Given the description of an element on the screen output the (x, y) to click on. 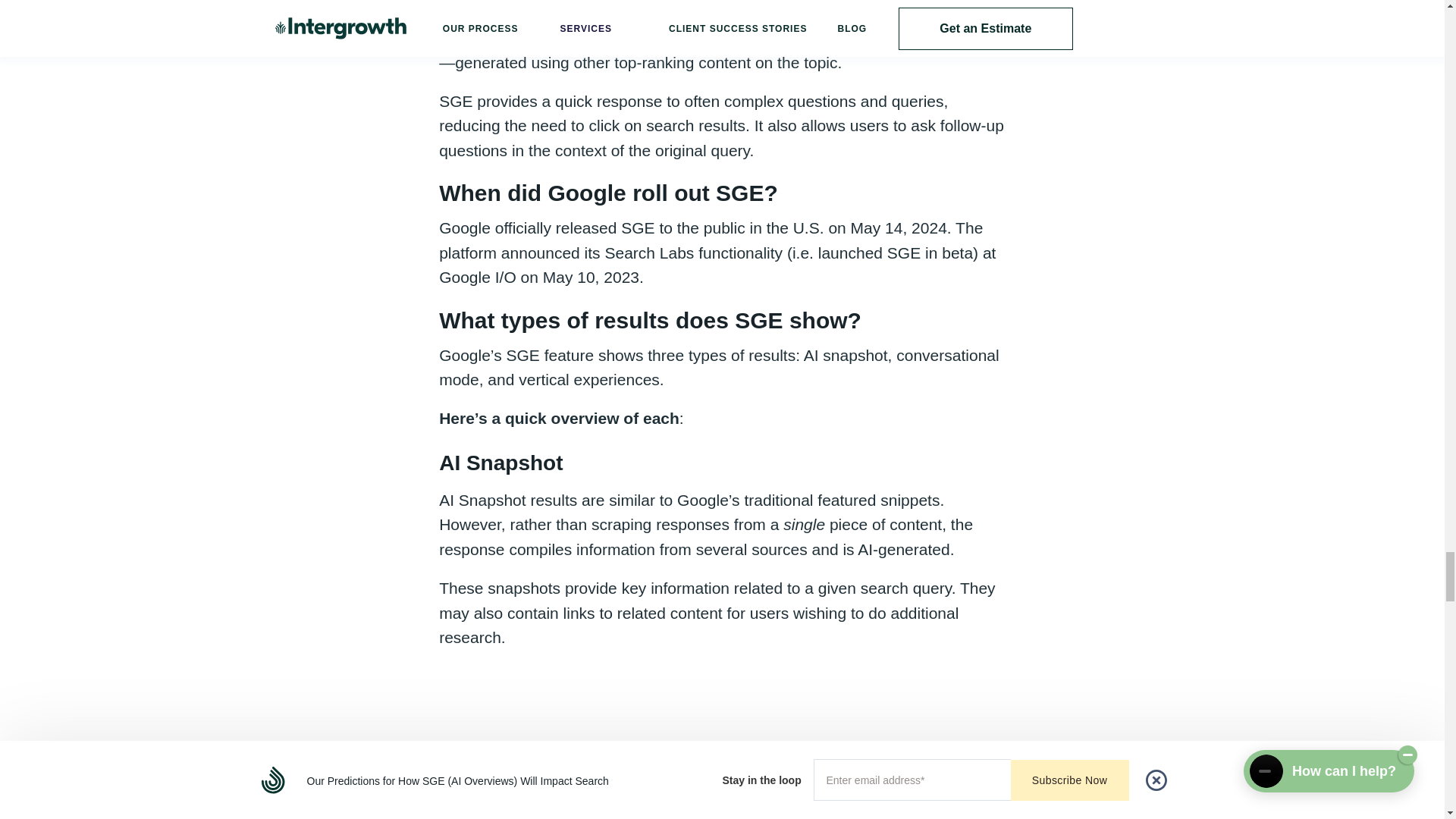
seo sge predictions ai snapshot (722, 741)
